Given the description of an element on the screen output the (x, y) to click on. 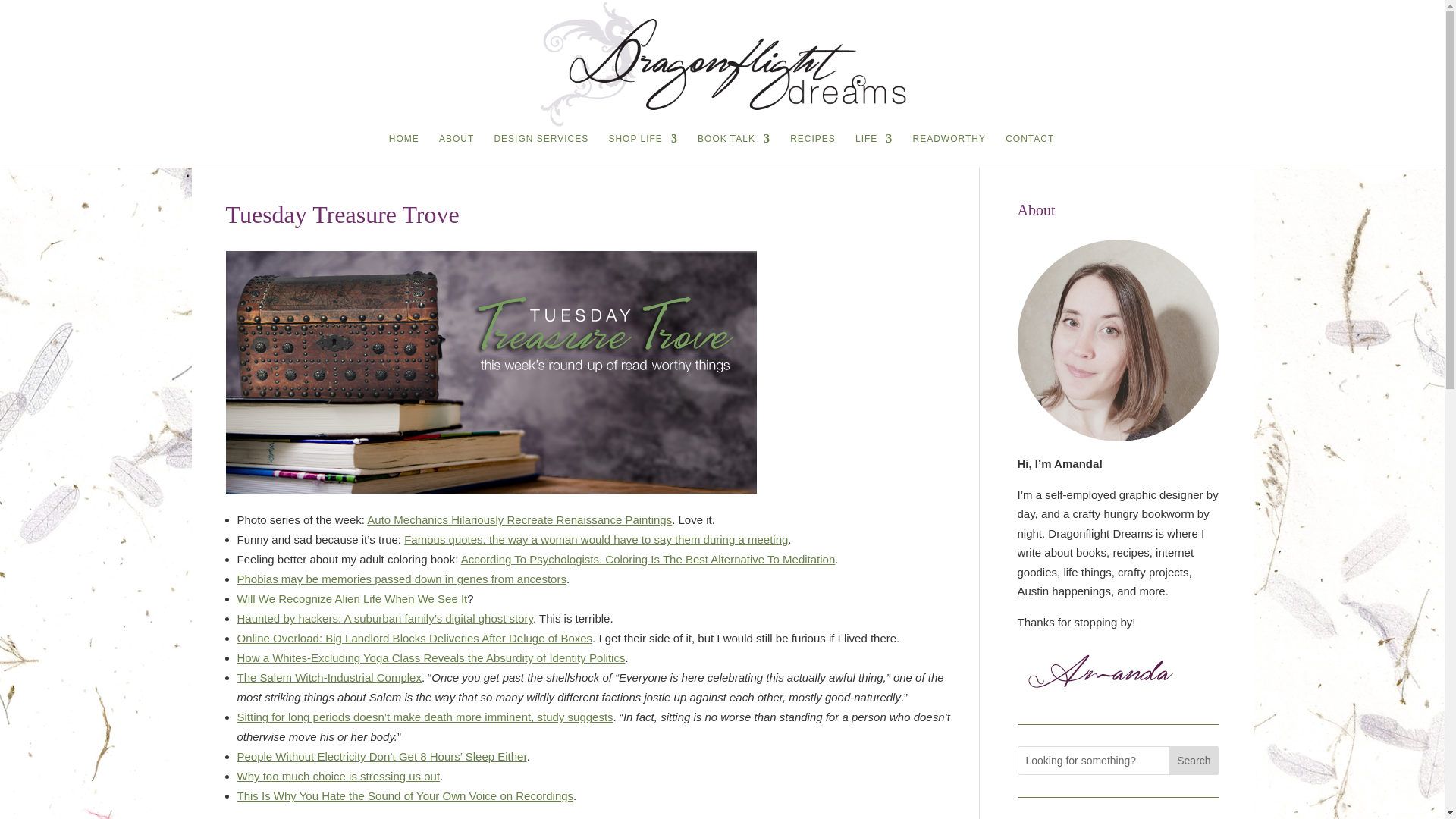
BOOK TALK (733, 150)
Search (1193, 759)
RECIPES (812, 150)
CONTACT (1030, 150)
signature (1102, 673)
new-self-portrait (1118, 340)
READWORTHY (948, 150)
DESIGN SERVICES (540, 150)
ABOUT (456, 150)
Auto Mechanics Hilariously Recreate Renaissance Paintings (518, 519)
SHOP LIFE (642, 150)
The Salem Witch-Industrial Complex (327, 676)
